Given the description of an element on the screen output the (x, y) to click on. 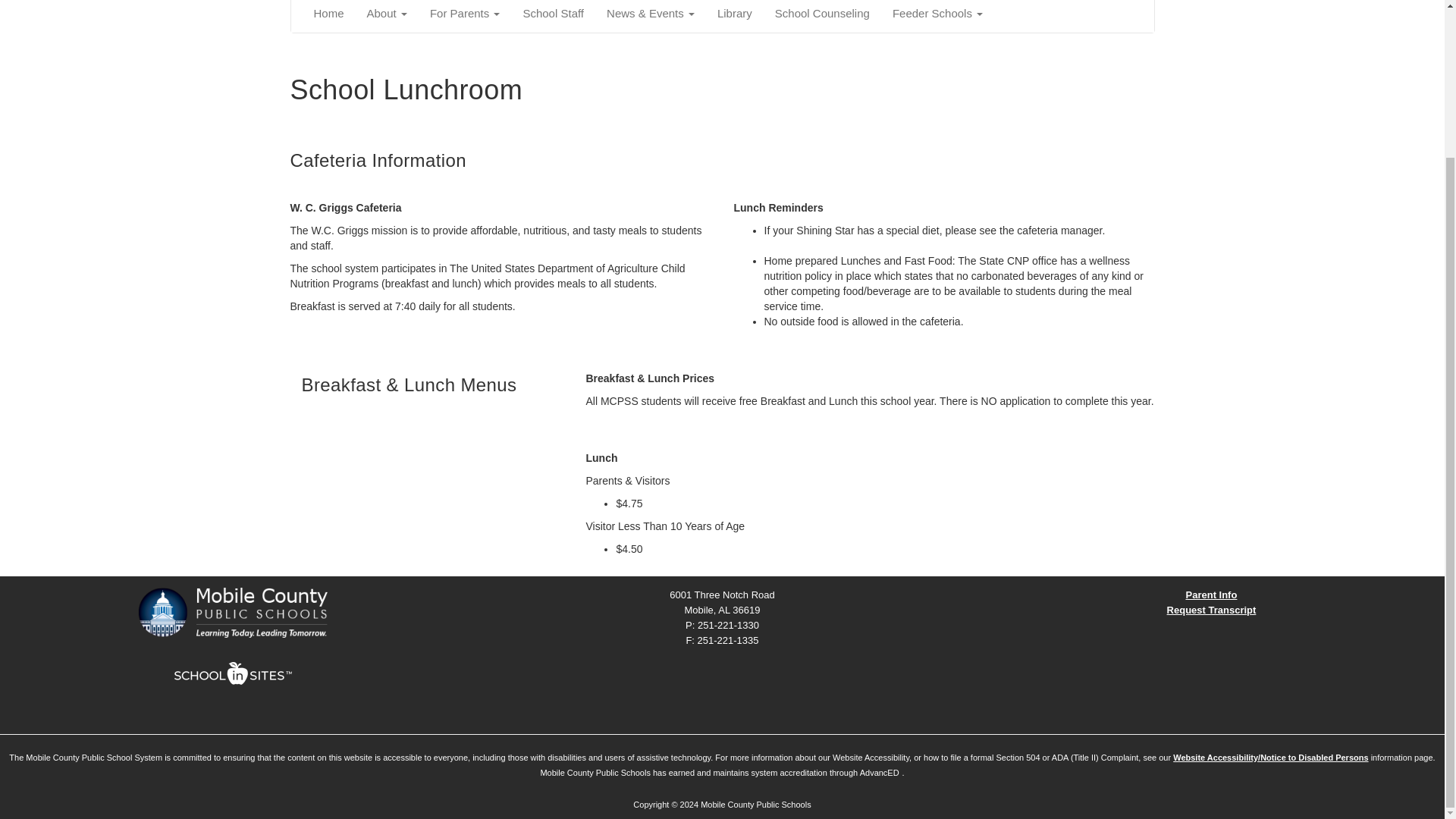
About (387, 16)
Feeder Schools (937, 16)
School Counseling (821, 16)
Library (734, 16)
For Parents (465, 16)
Home (328, 16)
School Staff (553, 16)
